Given the description of an element on the screen output the (x, y) to click on. 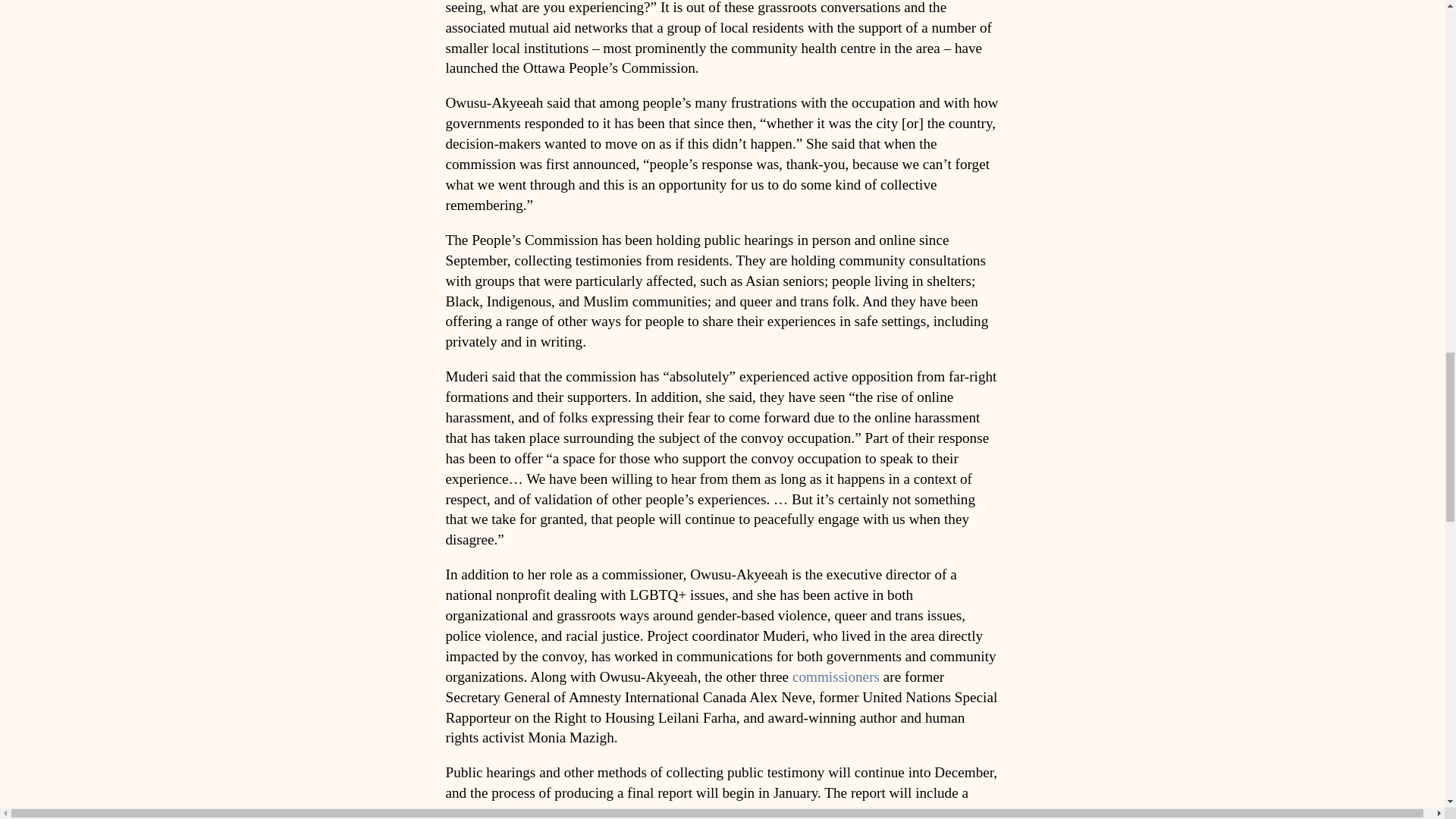
commissioners (835, 676)
